Given the description of an element on the screen output the (x, y) to click on. 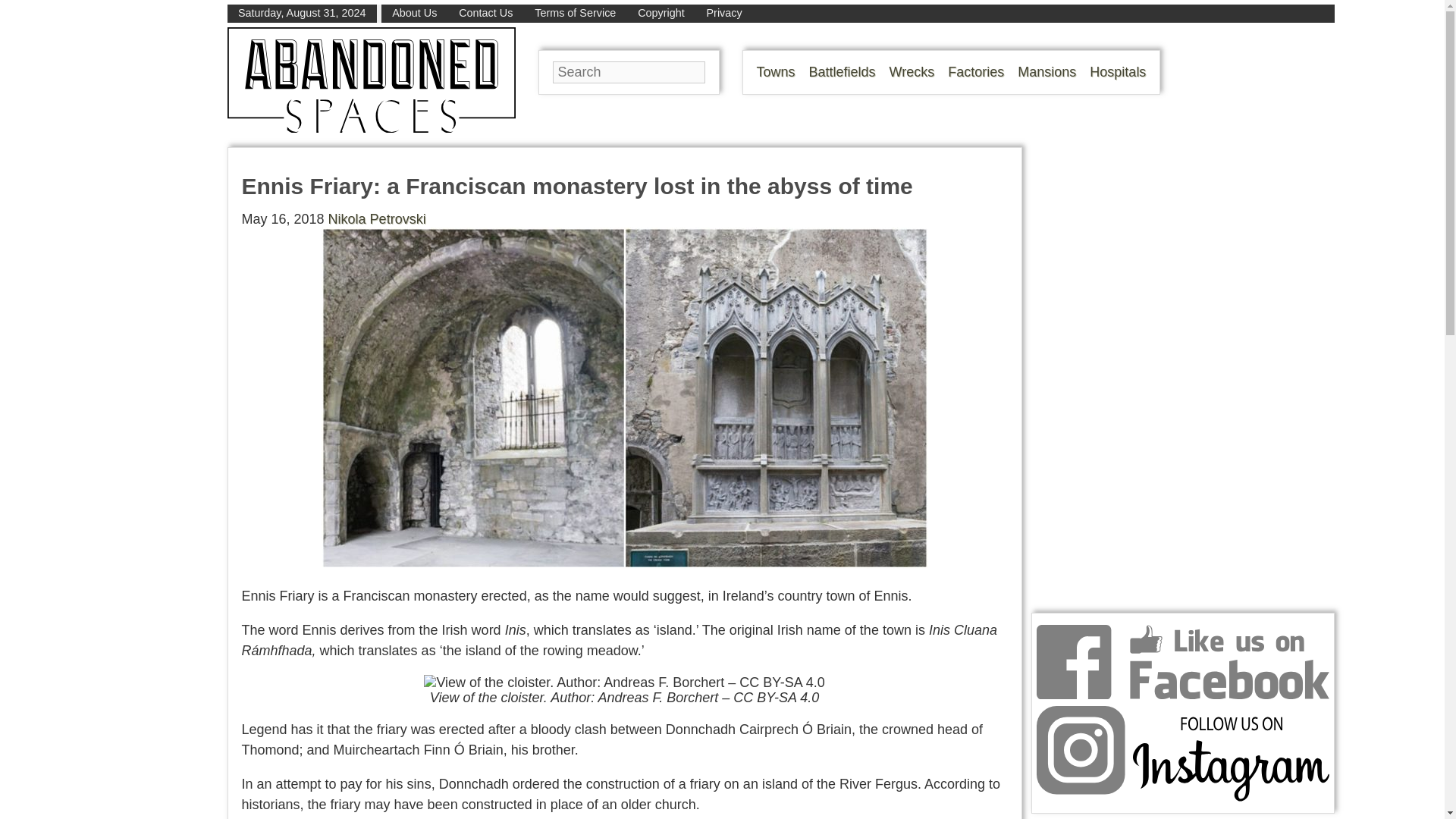
Battlefields (842, 71)
Contact Us (485, 12)
Wrecks (911, 71)
Factories (975, 71)
Copyright (660, 12)
Terms of Service (574, 12)
Hospitals (1117, 71)
About Us (413, 12)
Privacy (724, 12)
Towns (775, 71)
